Given the description of an element on the screen output the (x, y) to click on. 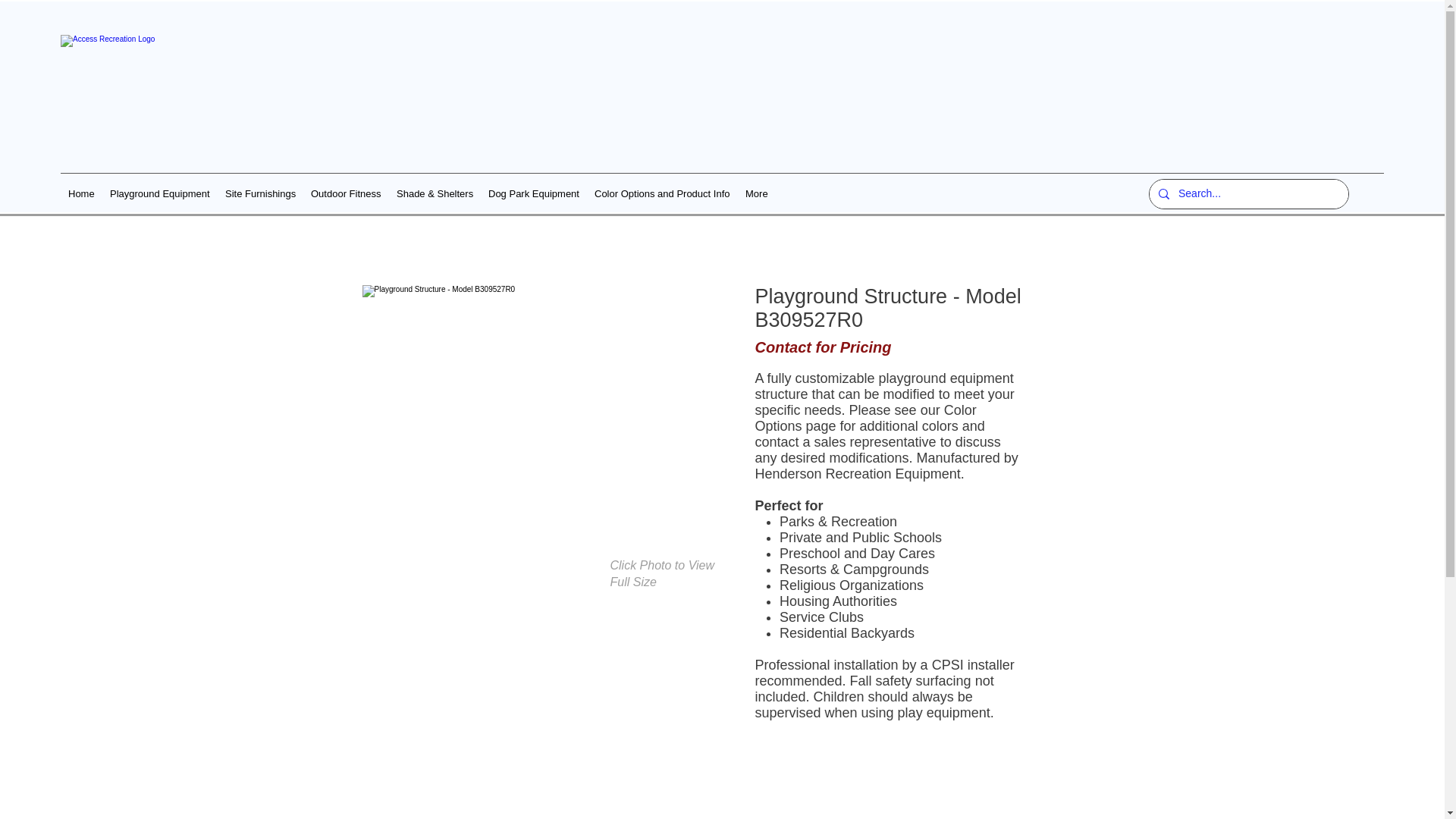
Home (81, 193)
Playground Structure - Model B309527R0 (545, 420)
Playground Equipment (158, 193)
Outdoor Fitness (345, 193)
Color Options and Product Info (662, 193)
Dog Park Equipment (533, 193)
Site Furnishings (259, 193)
